Given the description of an element on the screen output the (x, y) to click on. 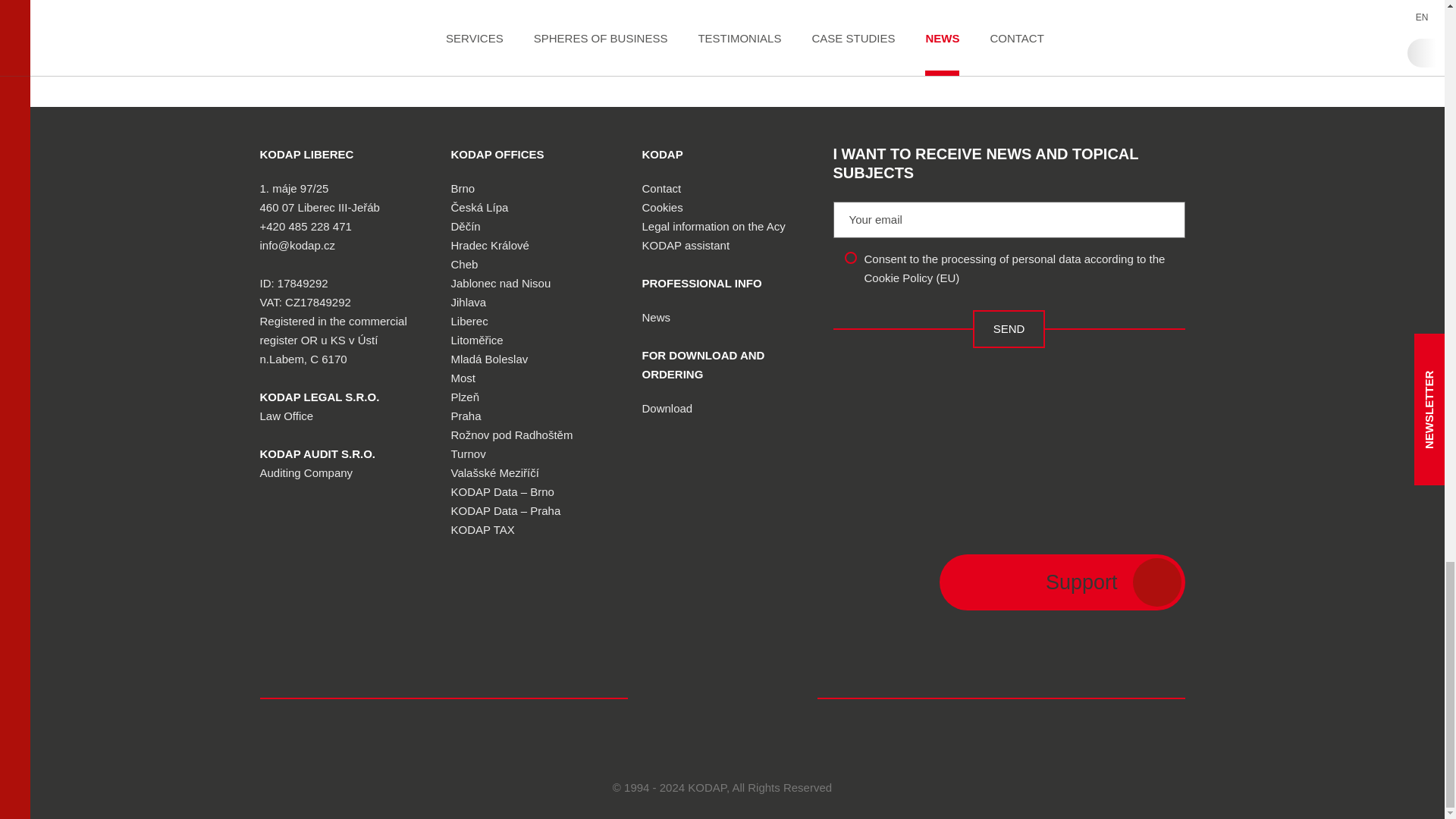
1 (850, 257)
KODAP Liberec (306, 154)
Legal Services (318, 396)
